Given the description of an element on the screen output the (x, y) to click on. 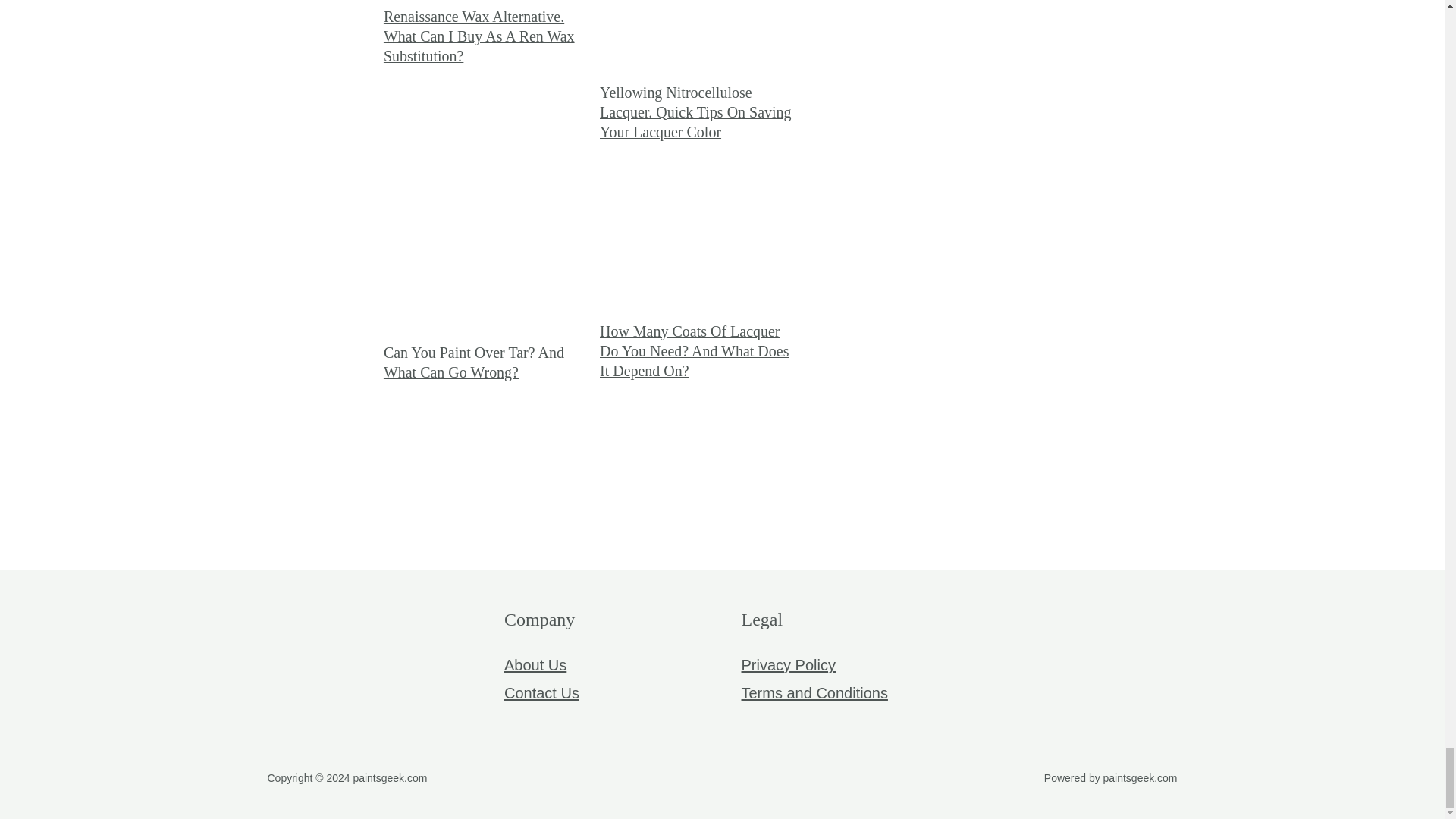
Can You Paint Over Tar? And What Can Go Wrong? (474, 361)
